Given the description of an element on the screen output the (x, y) to click on. 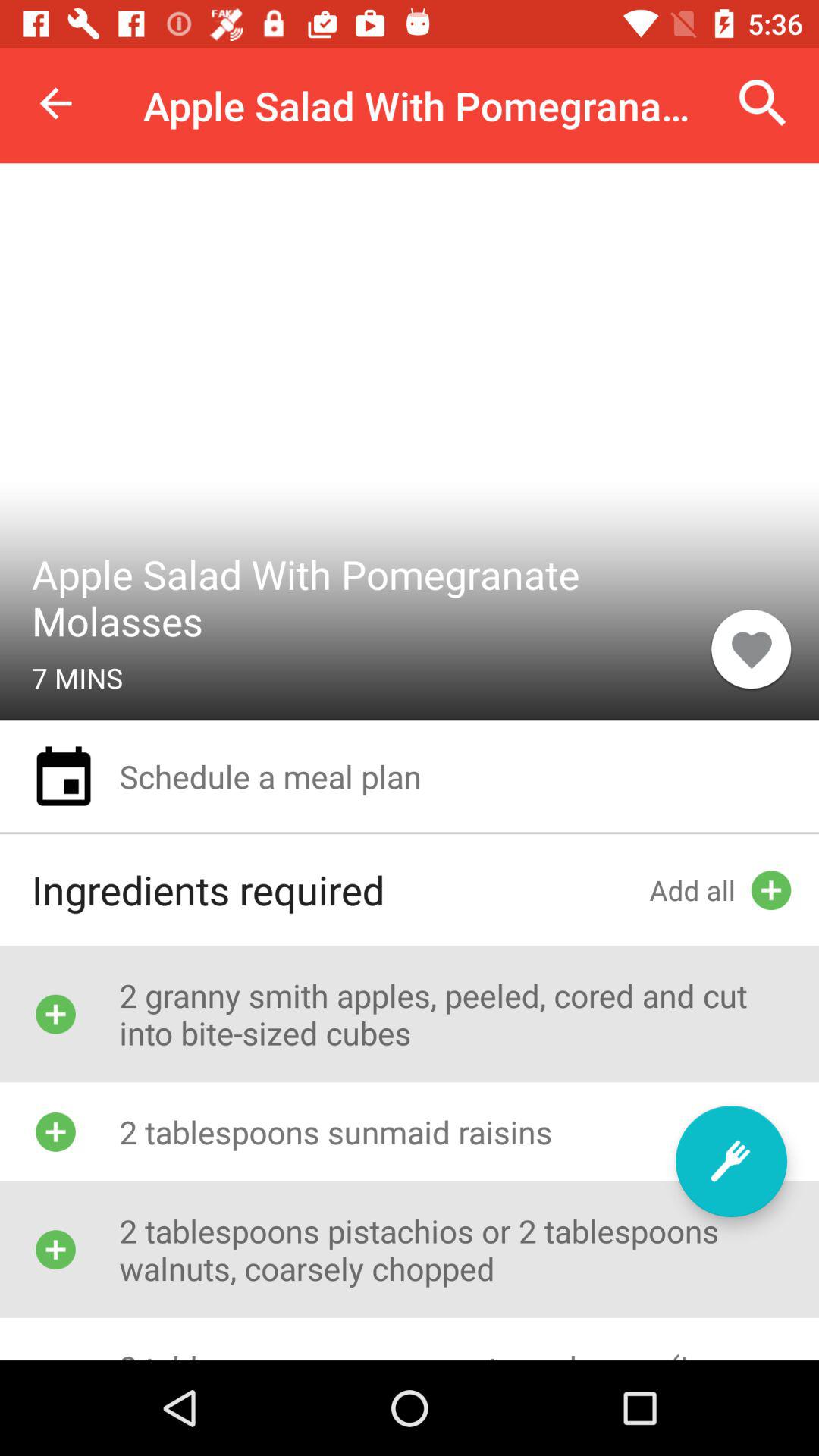
turn off icon to the right of the apple salad with icon (751, 648)
